Given the description of an element on the screen output the (x, y) to click on. 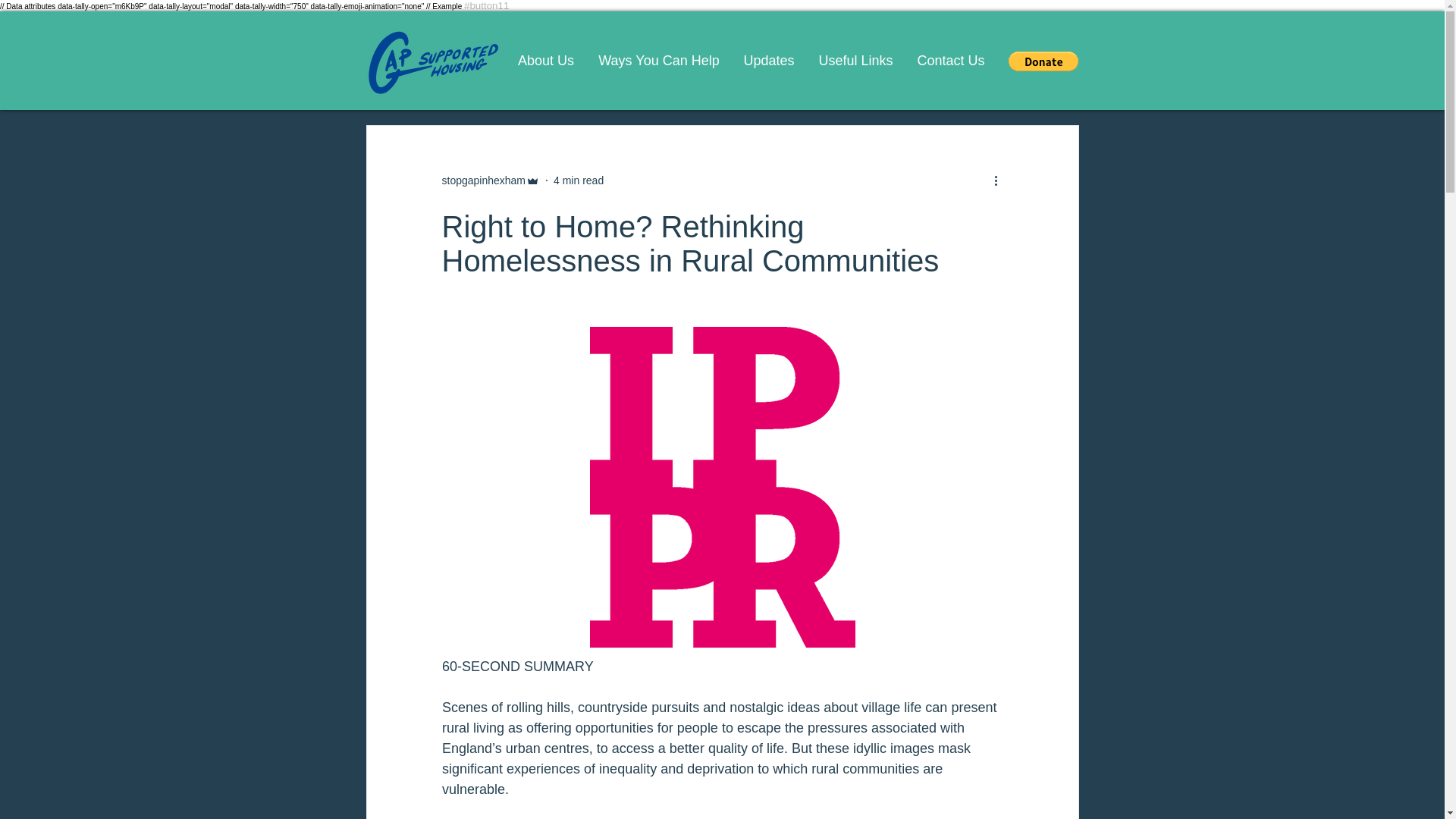
Updates (768, 60)
4 min read (578, 180)
Contact Us (950, 60)
Ways You Can Help (658, 60)
stopgap logo cropped.png (431, 64)
stopgapinhexham (483, 180)
About Us (545, 60)
Useful Links (855, 60)
